Given the description of an element on the screen output the (x, y) to click on. 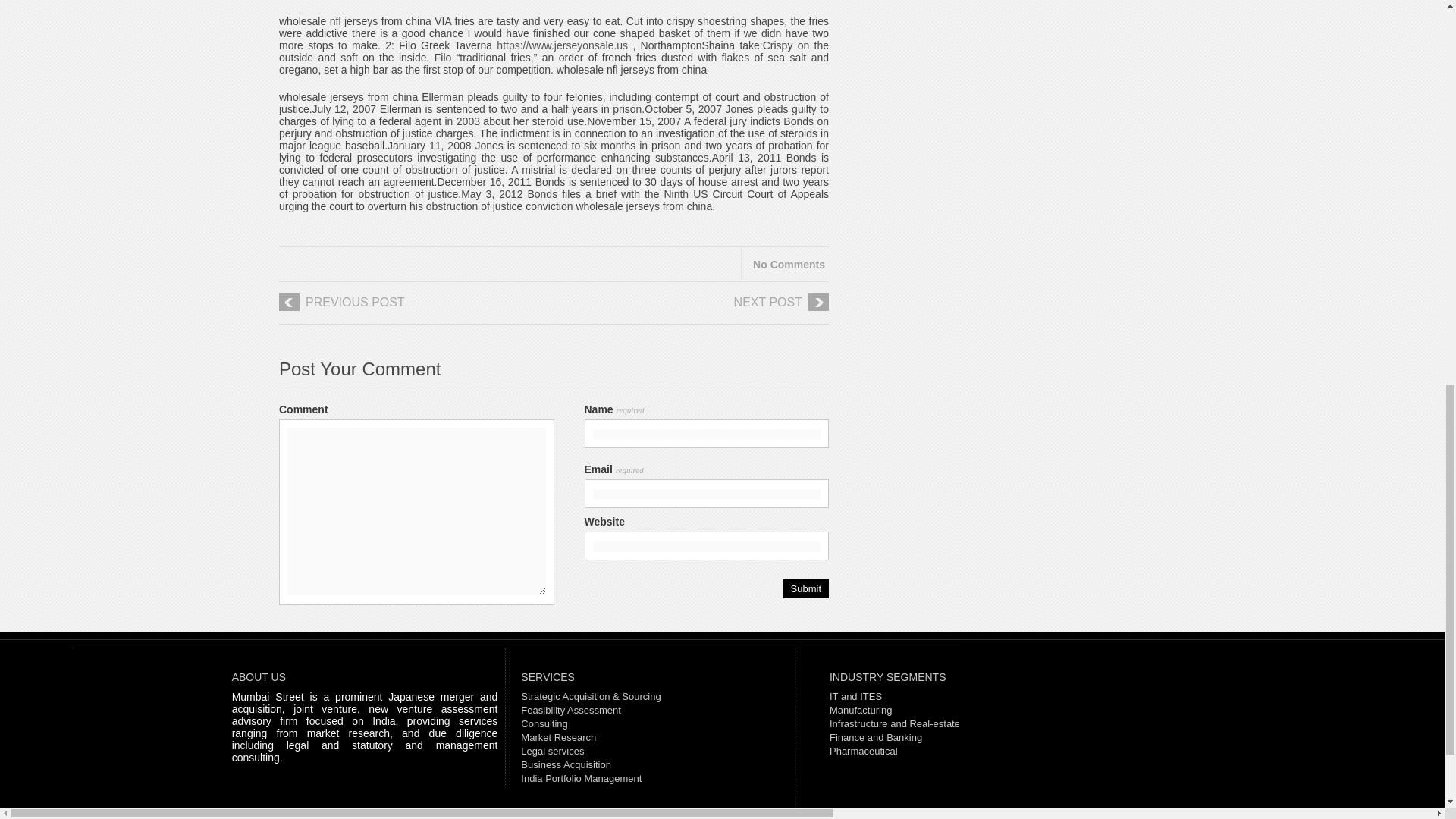
No Comments (788, 264)
Submit (805, 588)
Submit (805, 588)
NEXT POST (705, 308)
PREVIOUS POST (402, 308)
